Given the description of an element on the screen output the (x, y) to click on. 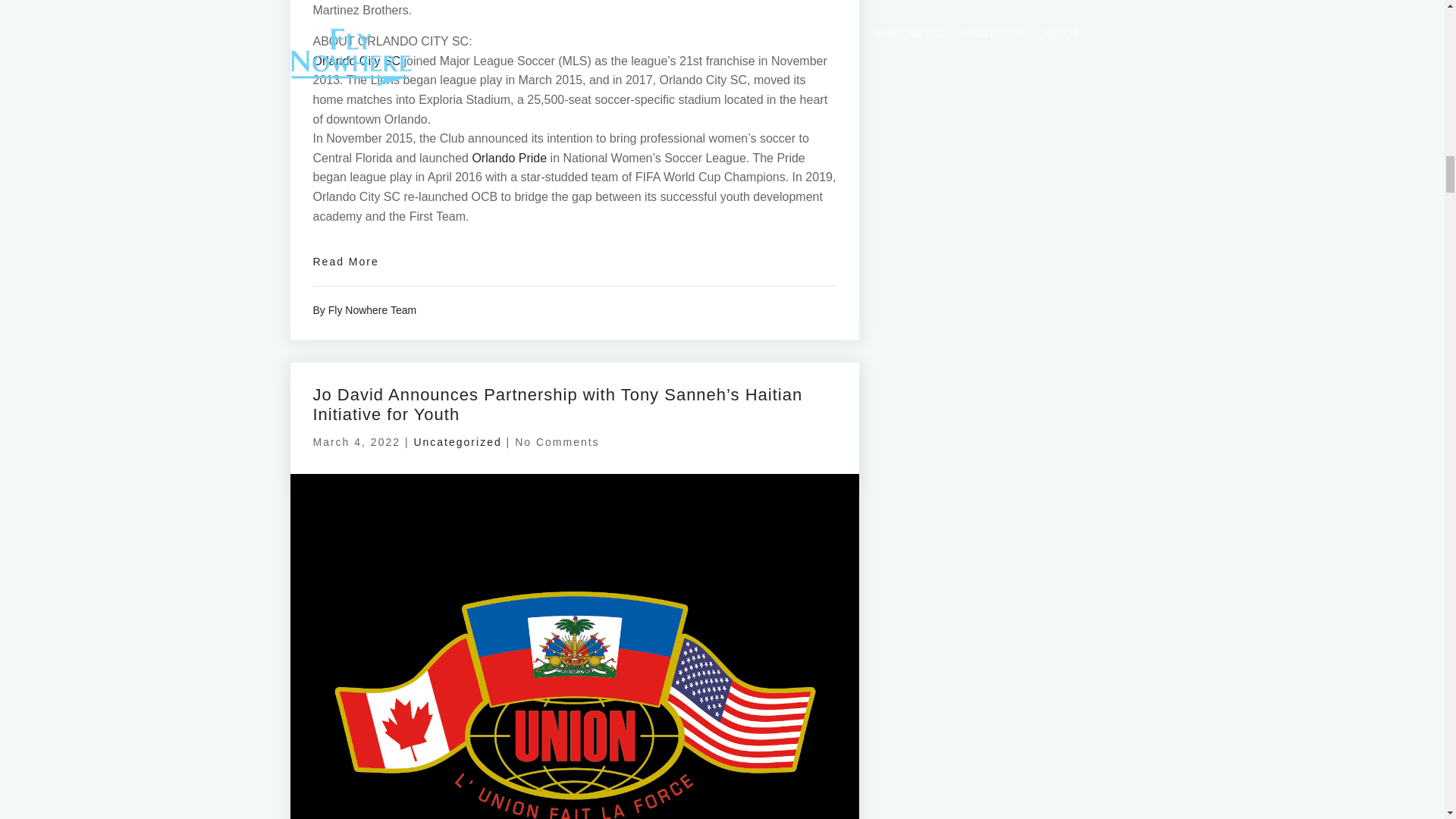
Page 1 (574, 113)
Orlando City SC (356, 60)
